Given the description of an element on the screen output the (x, y) to click on. 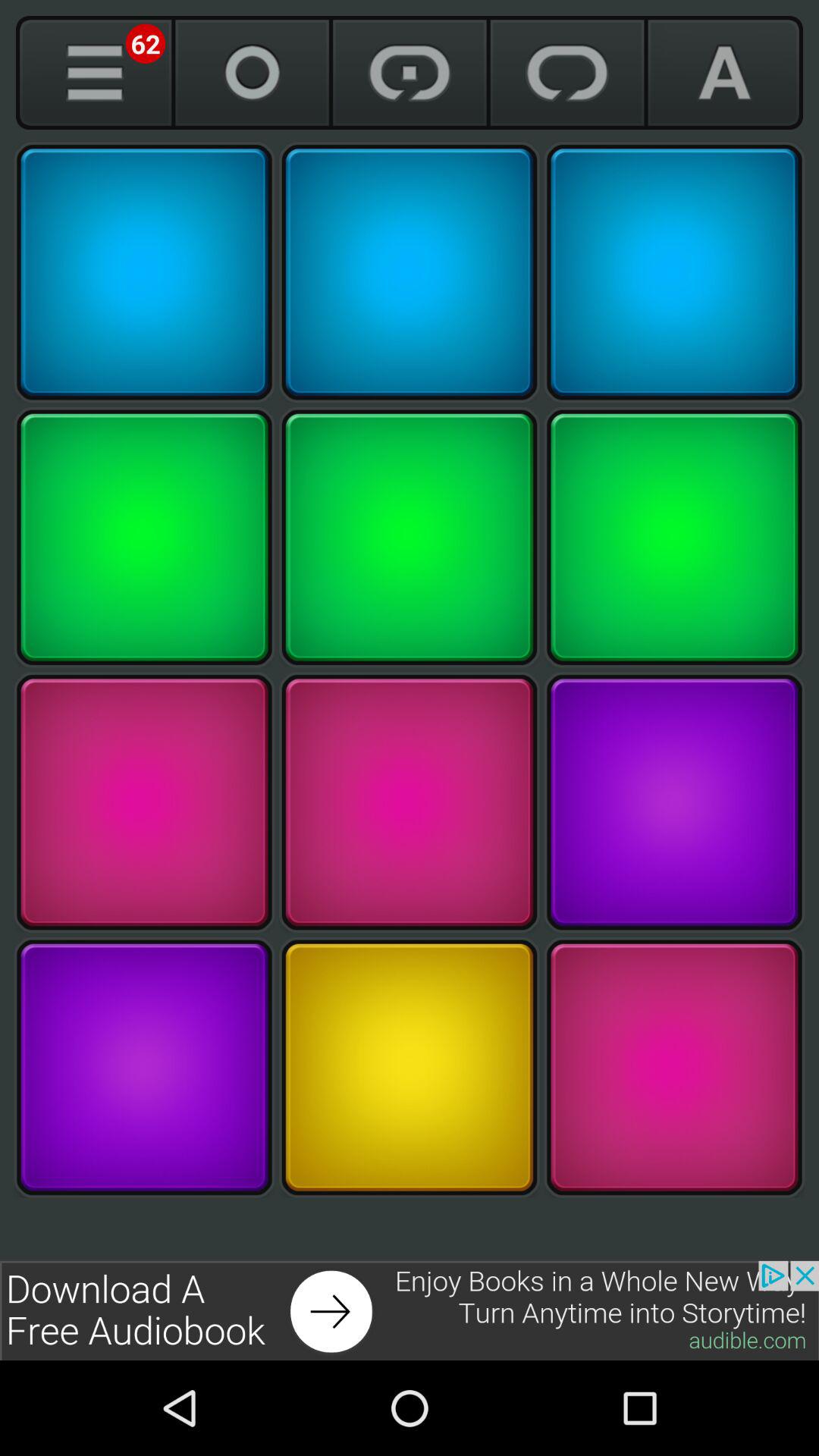
pick a color (144, 802)
